Given the description of an element on the screen output the (x, y) to click on. 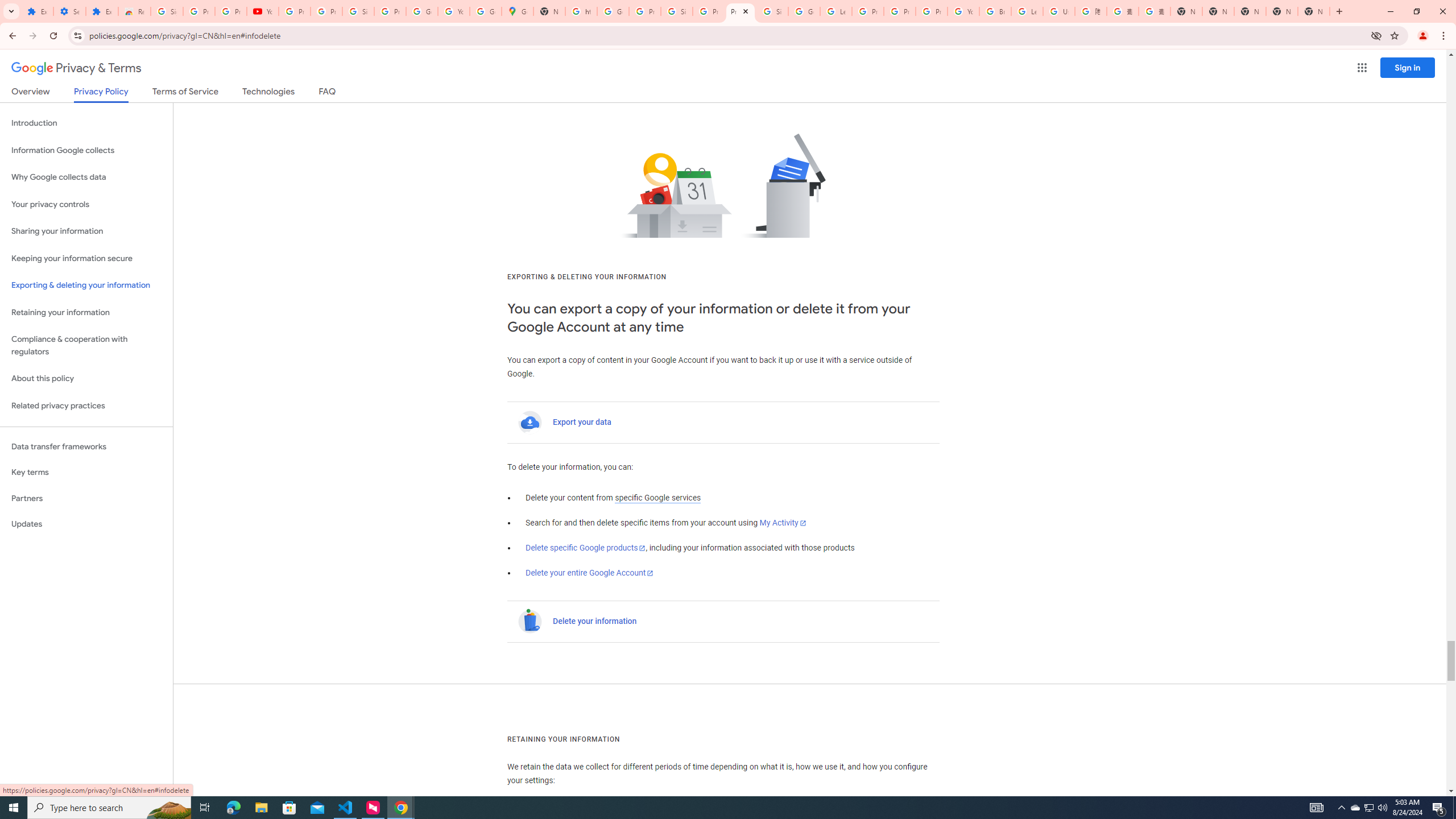
Your privacy controls (86, 204)
Privacy Help Center - Policies Help (868, 11)
My Activity (782, 523)
Why Google collects data (86, 176)
Retaining your information (86, 312)
Extensions (37, 11)
About this policy (86, 379)
Sign in - Google Accounts (166, 11)
